Given the description of an element on the screen output the (x, y) to click on. 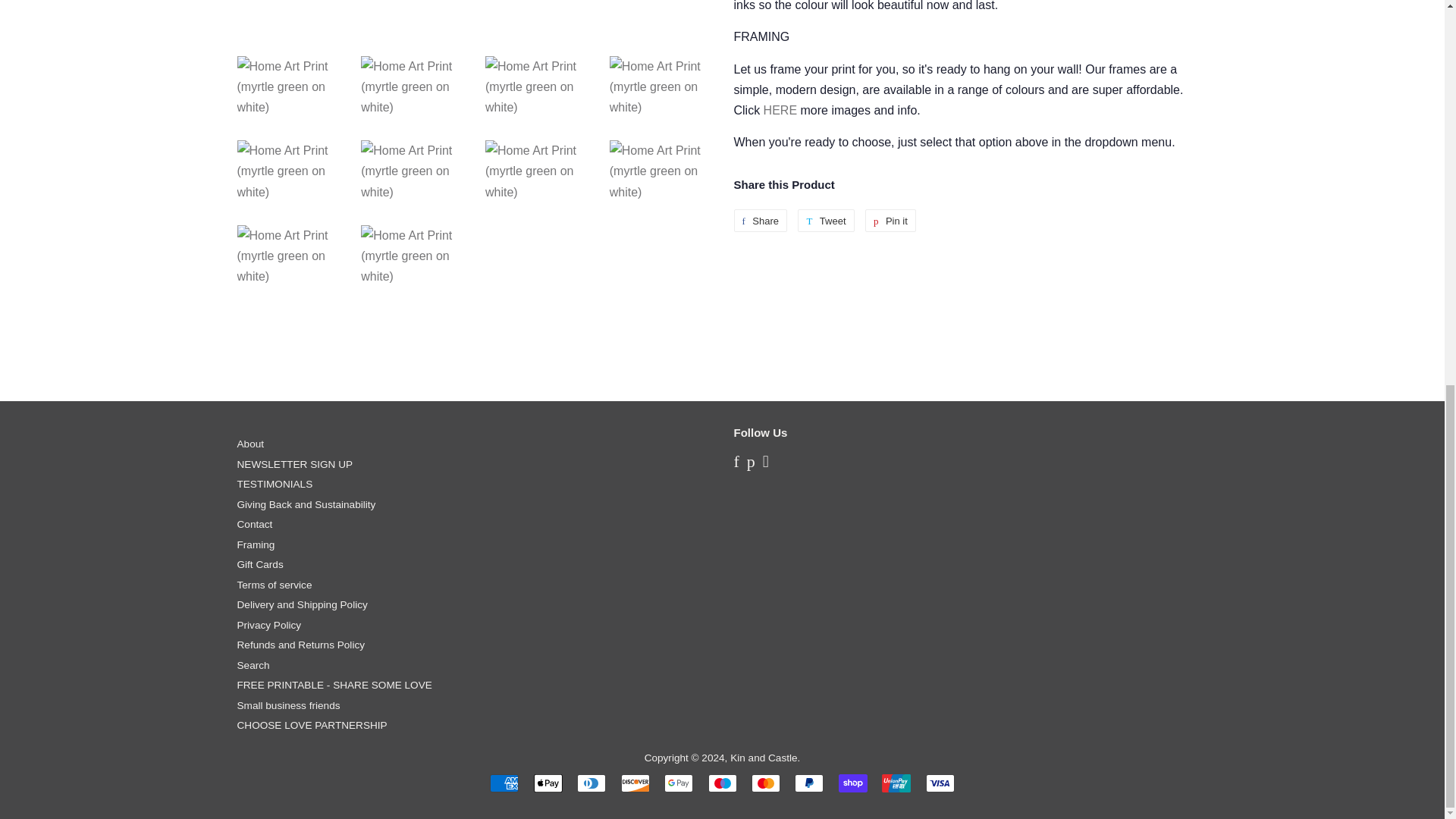
American Express (503, 782)
Tweet on Twitter (825, 220)
Google Pay (678, 782)
Maestro (721, 782)
Union Pay (896, 782)
Apple Pay (548, 782)
Visa (940, 782)
Diners Club (590, 782)
Shop Pay (852, 782)
Discover (635, 782)
KIN AND CASTLE PRINT FRAMING SERVICE (779, 110)
Share on Facebook (760, 220)
Mastercard (765, 782)
Pin on Pinterest (889, 220)
PayPal (809, 782)
